Given the description of an element on the screen output the (x, y) to click on. 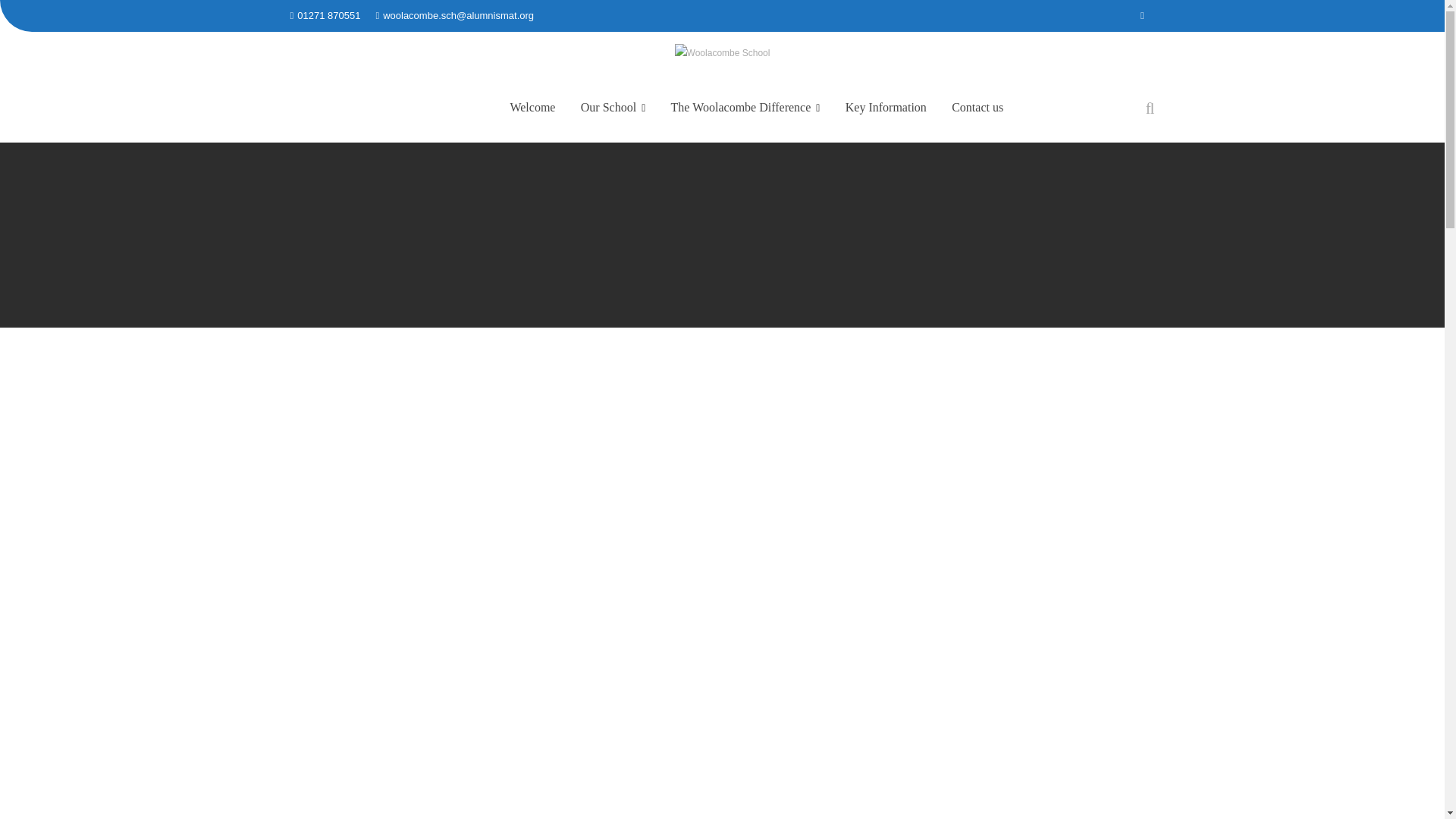
Twitter (1141, 15)
The Woolacombe Difference (745, 107)
Welcome (531, 107)
Our School (612, 107)
